Given the description of an element on the screen output the (x, y) to click on. 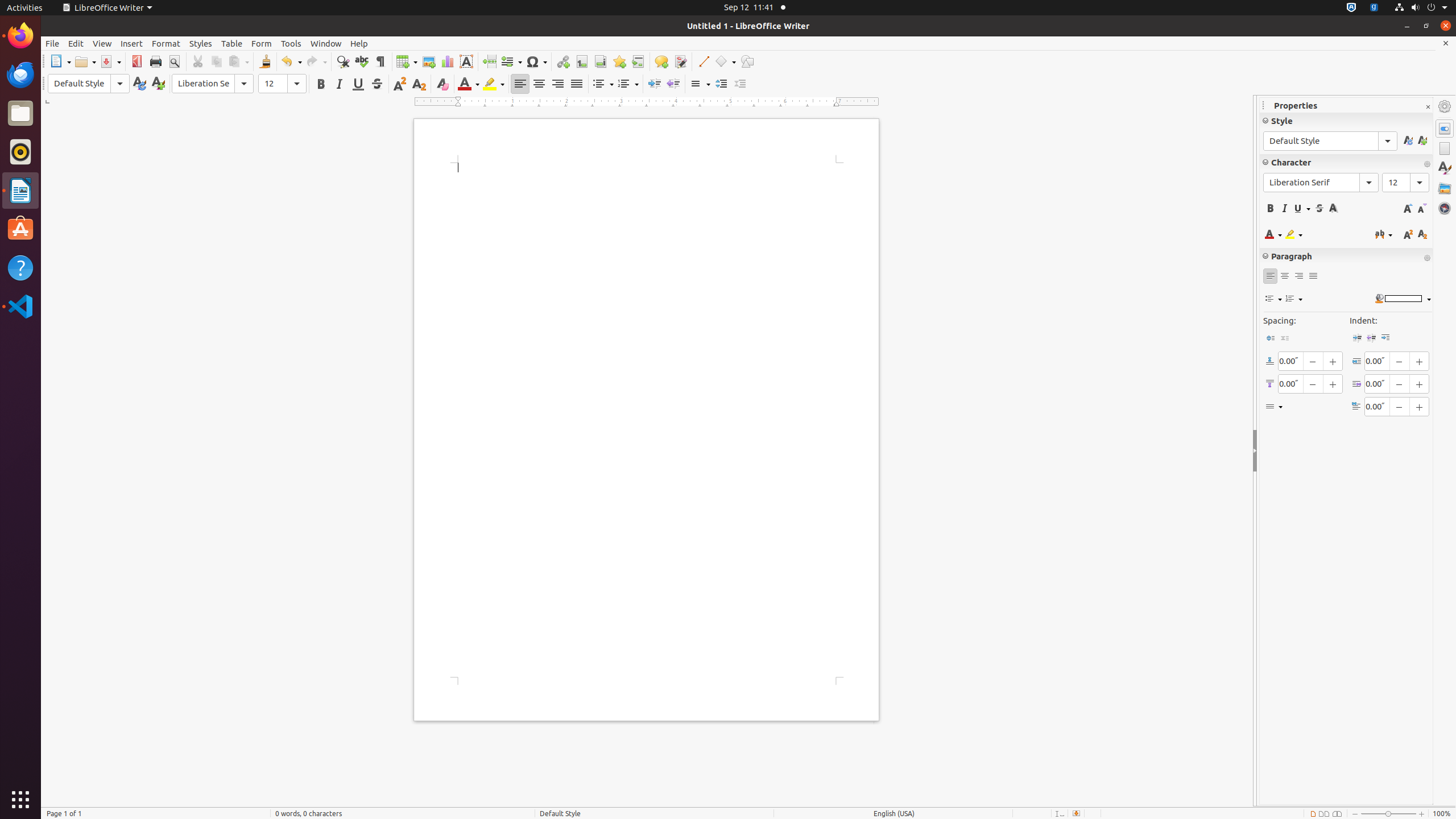
Table Element type: push-button (406, 61)
Bold Element type: toggle-button (320, 83)
Right Element type: toggle-button (557, 83)
View Element type: menu (102, 43)
Line Element type: toggle-button (702, 61)
